Given the description of an element on the screen output the (x, y) to click on. 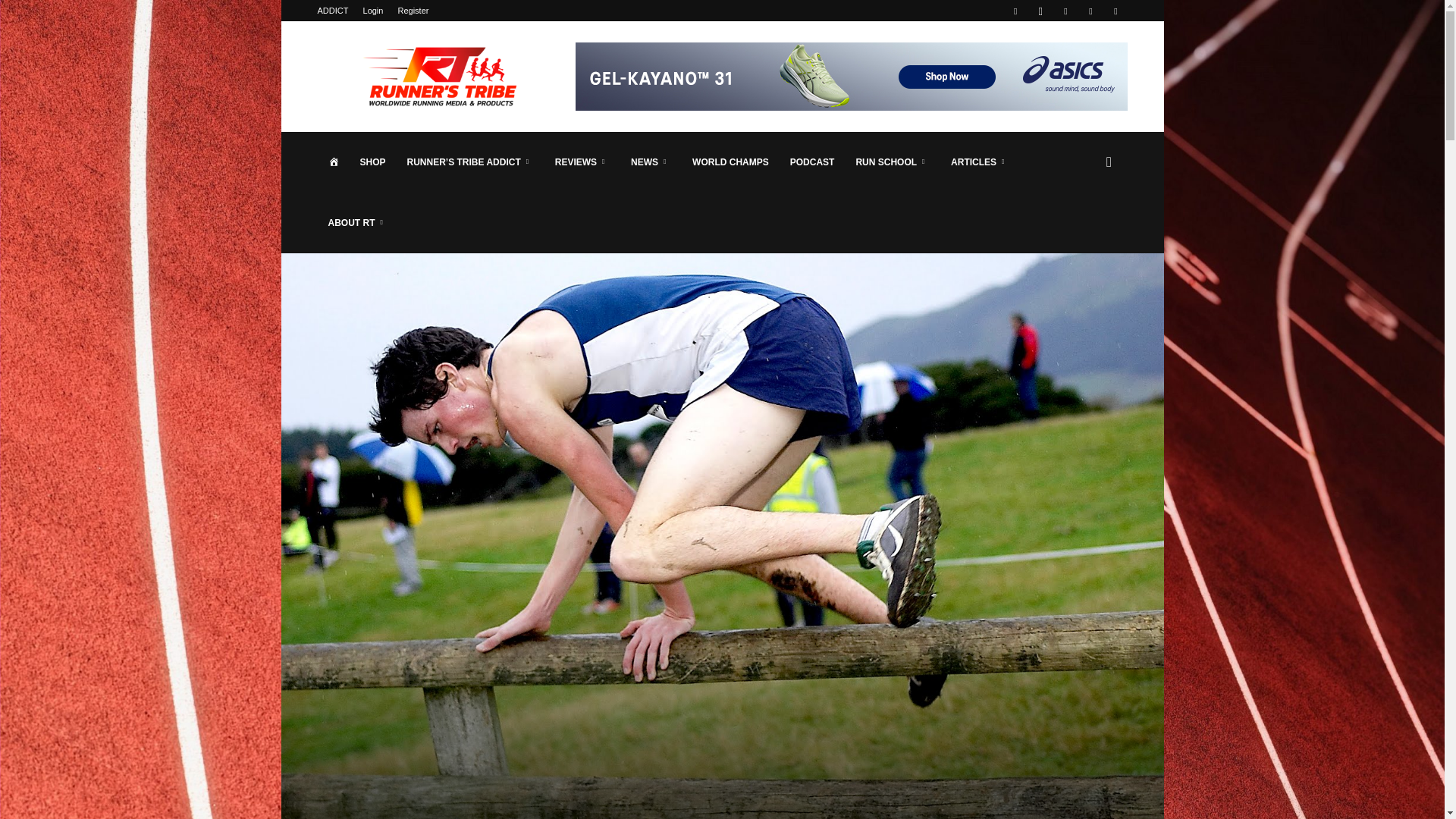
Facebook (1015, 10)
Twitter (1090, 10)
Pinterest (1065, 10)
Instagram (1040, 10)
Youtube (1114, 10)
